Given the description of an element on the screen output the (x, y) to click on. 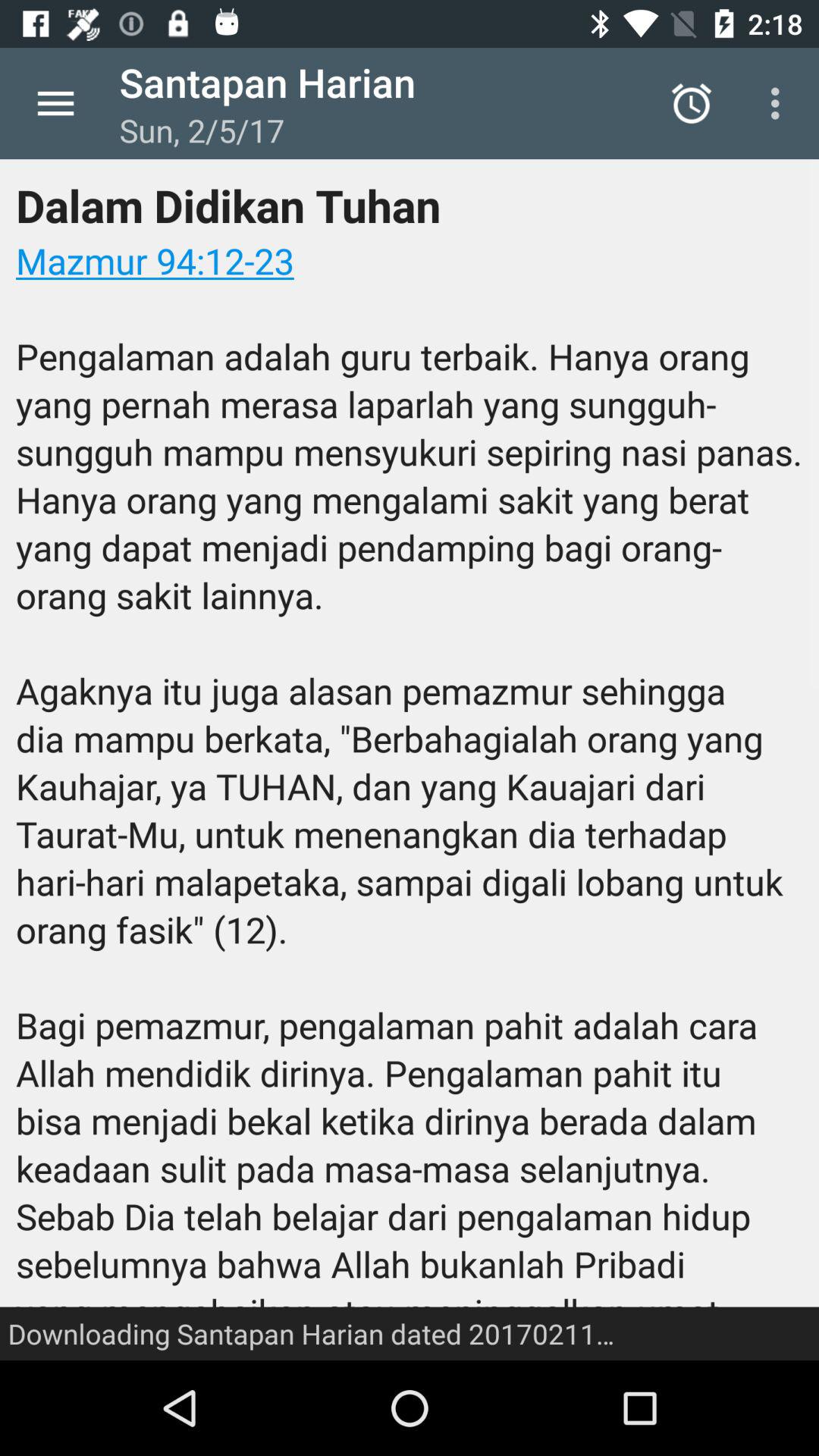
flip to the dalam didikan tuhan (409, 759)
